Given the description of an element on the screen output the (x, y) to click on. 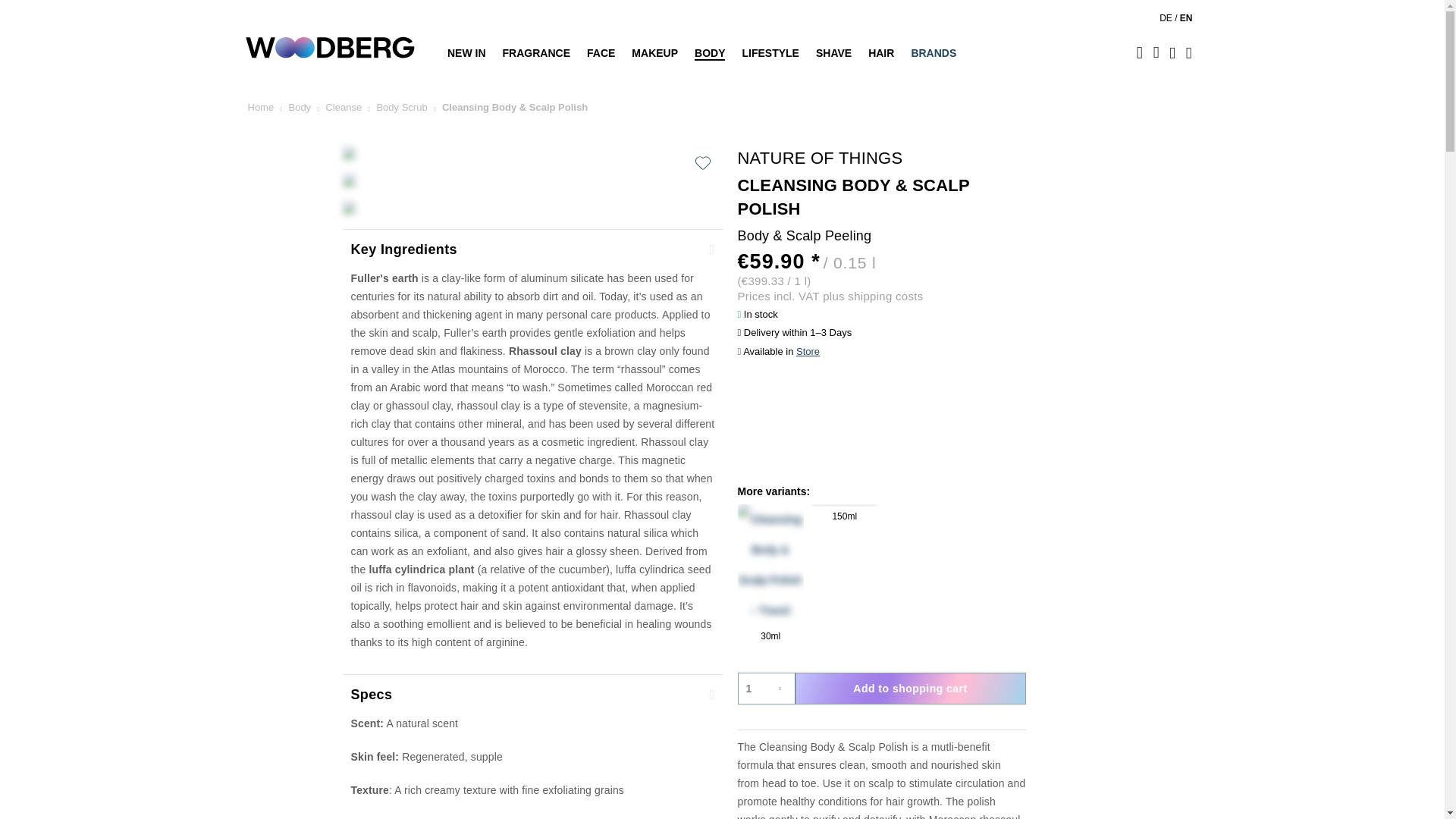
Wish list (1156, 52)
Face (600, 52)
Shopping cart (1188, 52)
BRANDS (932, 52)
Shave (834, 52)
SHAVE (834, 52)
LIFESTYLE (769, 52)
Home (260, 107)
Cleanse (343, 107)
Woodberg (342, 37)
Lifestyle (769, 52)
Fragrance (536, 52)
Makeup (654, 52)
New in (470, 52)
My account (1172, 52)
